Given the description of an element on the screen output the (x, y) to click on. 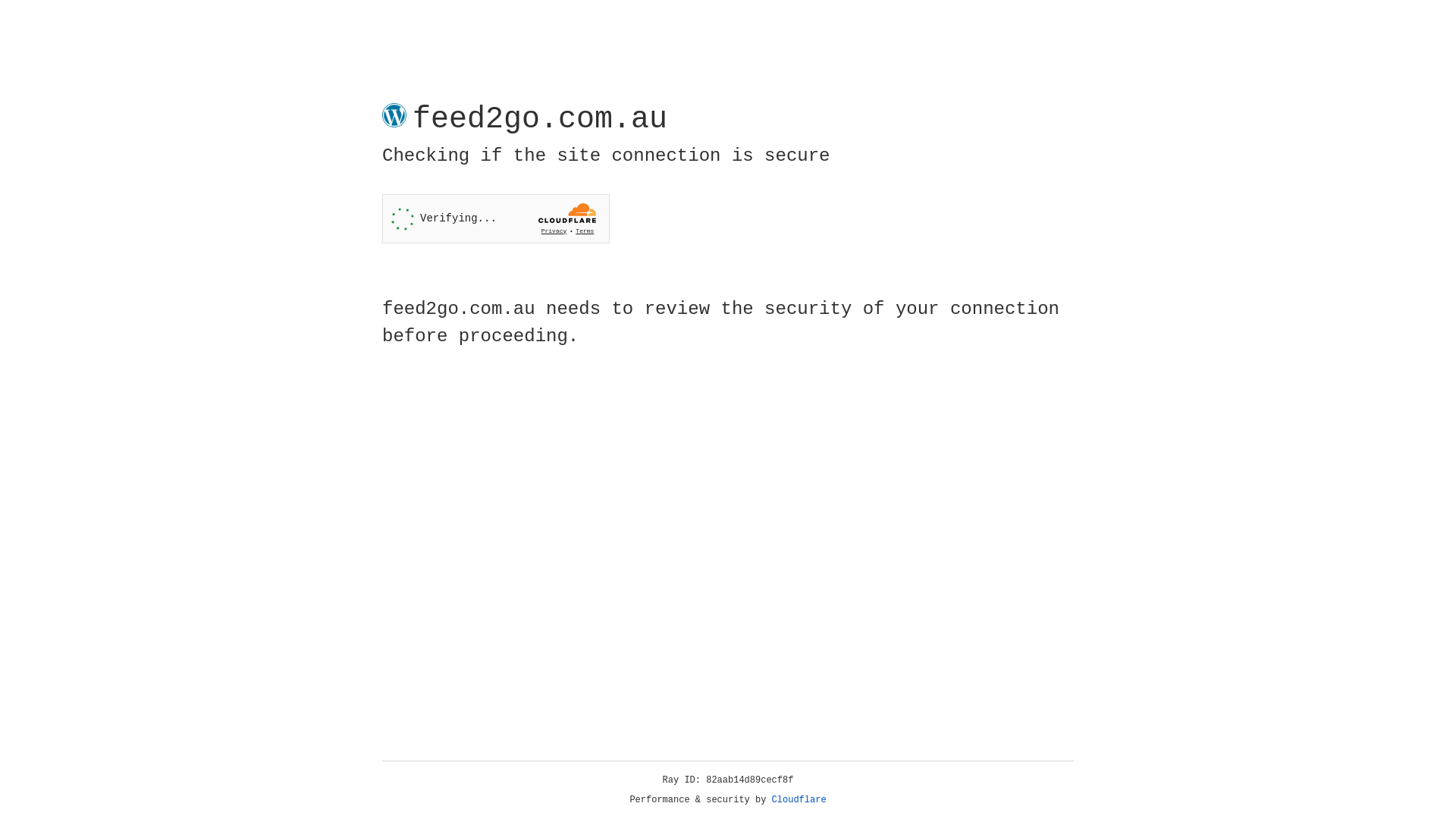
Widget containing a Cloudflare security challenge Element type: hover (495, 218)
Cloudflare Element type: text (798, 799)
